Given the description of an element on the screen output the (x, y) to click on. 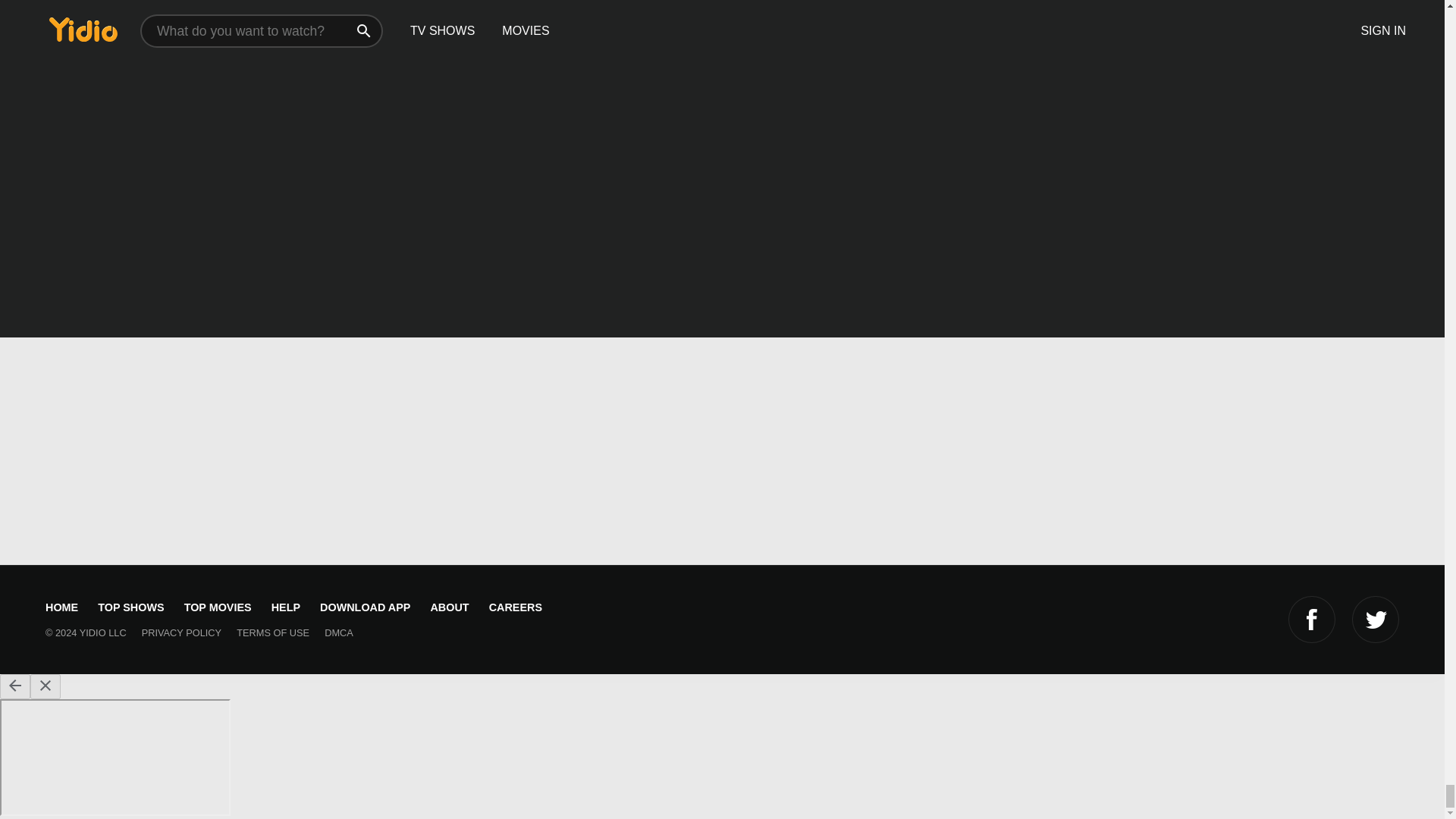
Facebook (1311, 619)
Twitter (1375, 619)
